Given the description of an element on the screen output the (x, y) to click on. 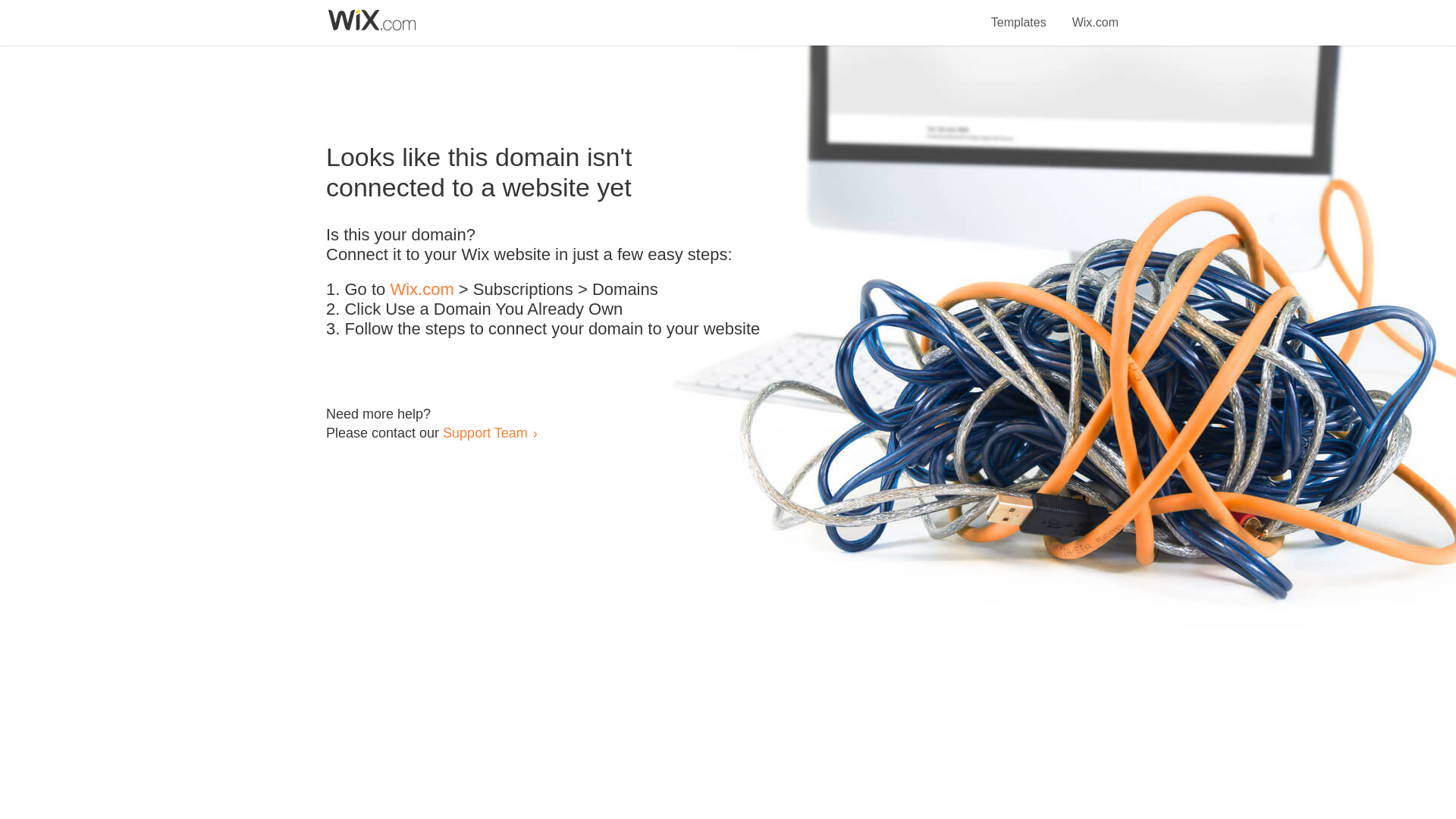
Wix.com (1095, 14)
Wix.com (421, 289)
Support Team (484, 432)
Templates (1018, 14)
